Given the description of an element on the screen output the (x, y) to click on. 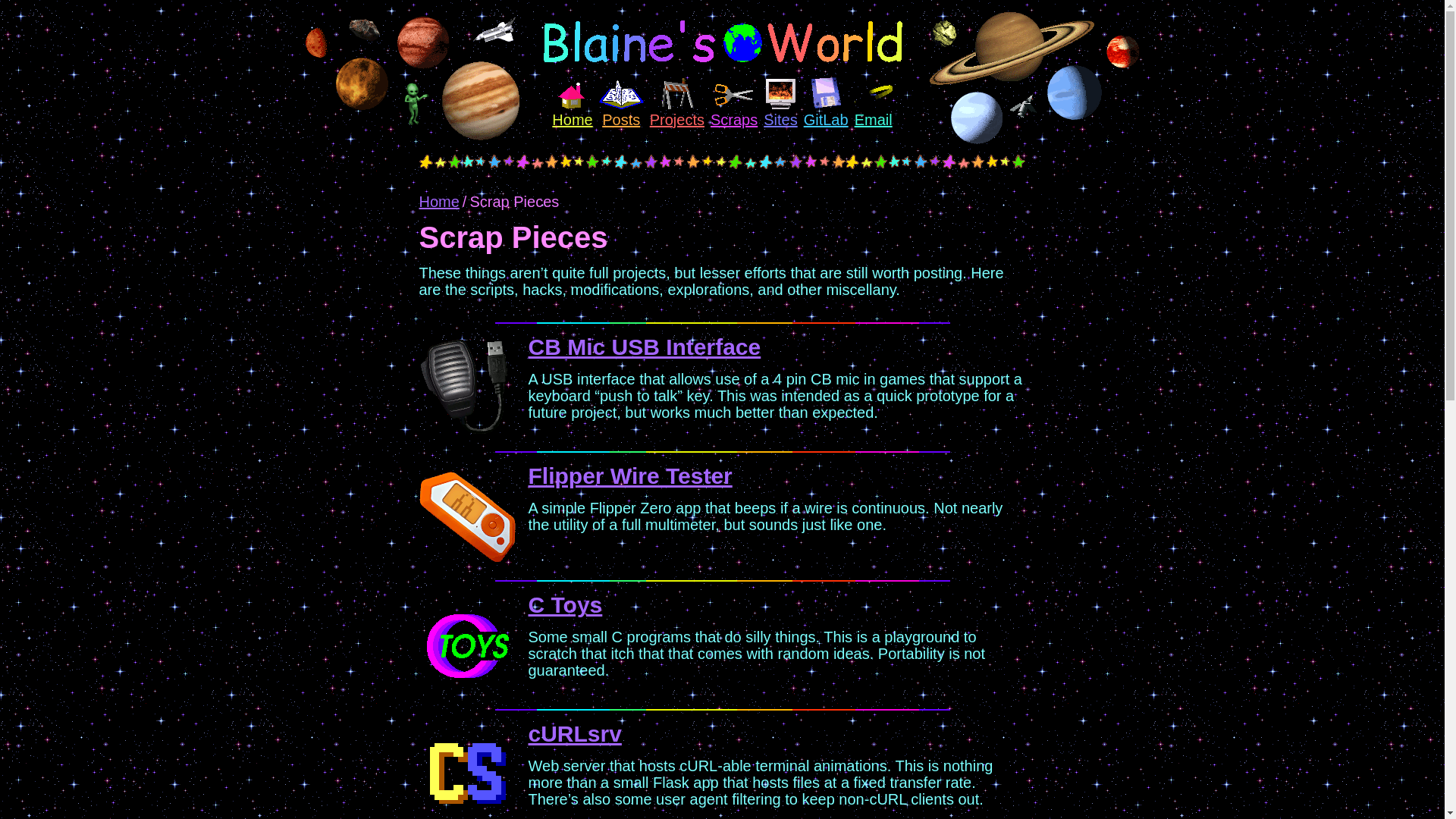
cURLsrv (574, 733)
Posts (620, 103)
C Toys (564, 604)
Flipper Wire Tester (629, 475)
Home (438, 201)
Projects (676, 100)
